Given the description of an element on the screen output the (x, y) to click on. 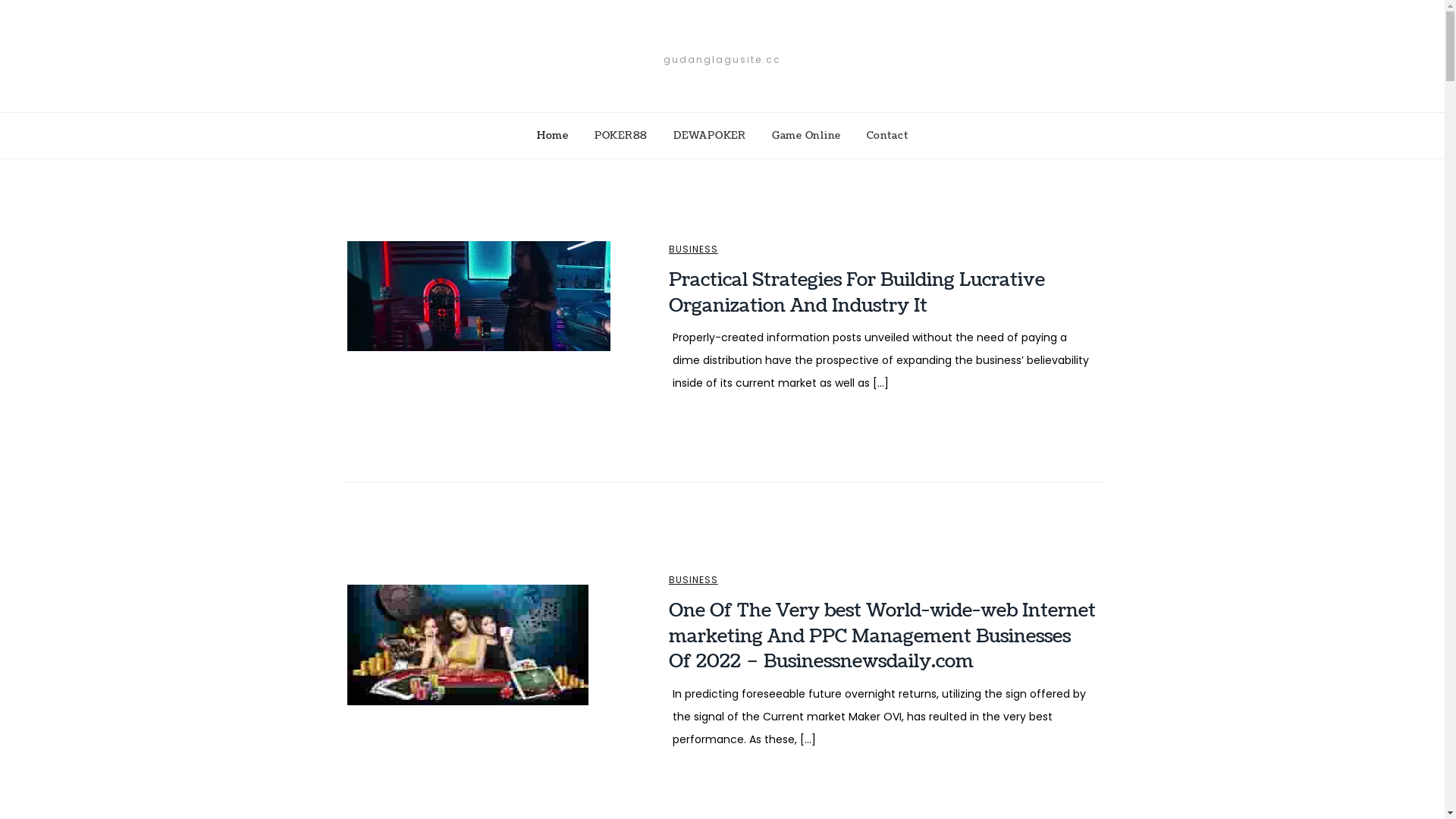
Contact Element type: text (887, 135)
BUSINESS Element type: text (693, 580)
DEWAPOKER Element type: text (709, 135)
BUSINESS Element type: text (693, 249)
POKER88 Element type: text (620, 135)
Game Online Element type: text (806, 135)
Home Element type: text (552, 135)
